Given the description of an element on the screen output the (x, y) to click on. 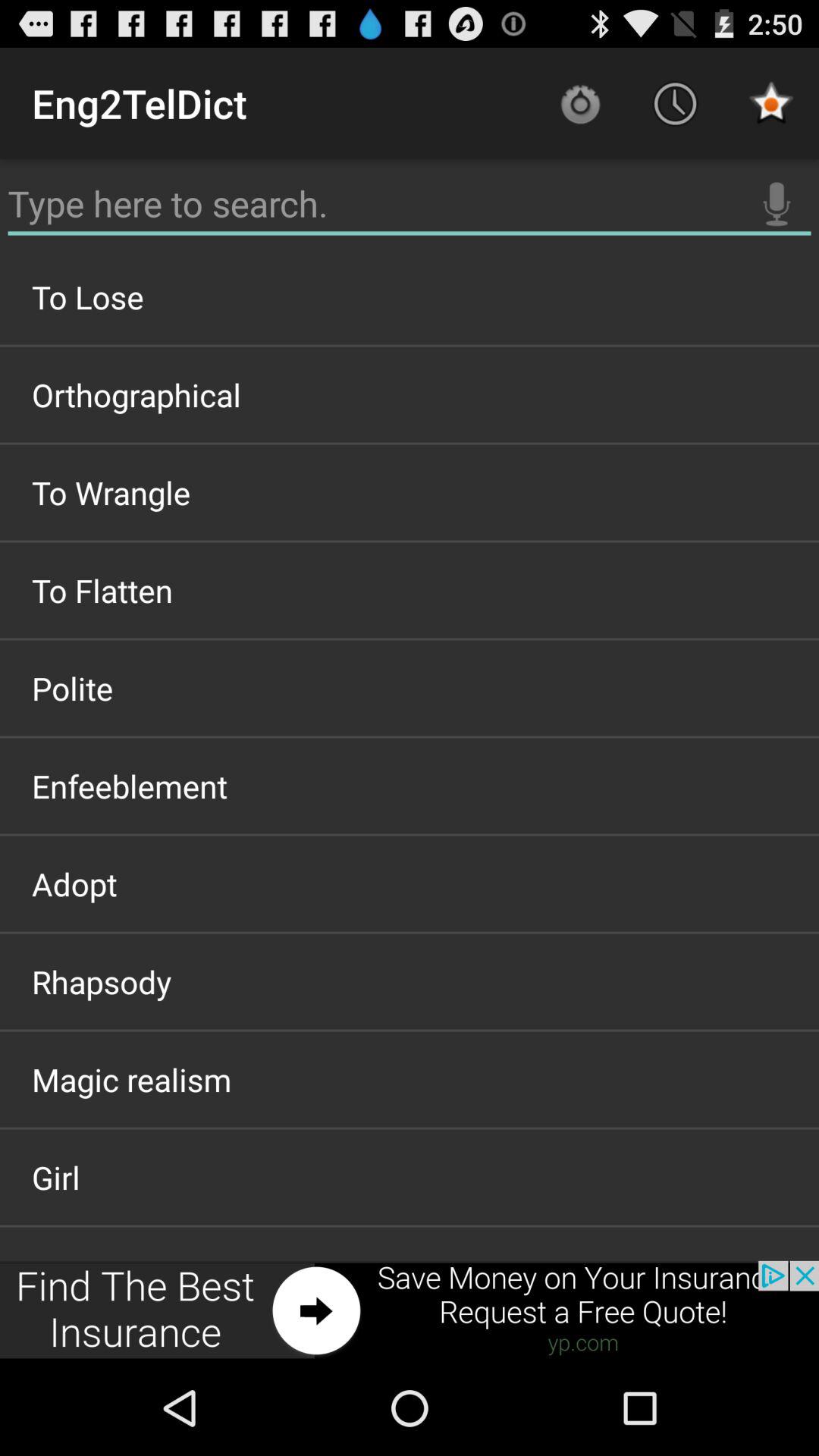
turn on the icon above to lose item (776, 204)
